Given the description of an element on the screen output the (x, y) to click on. 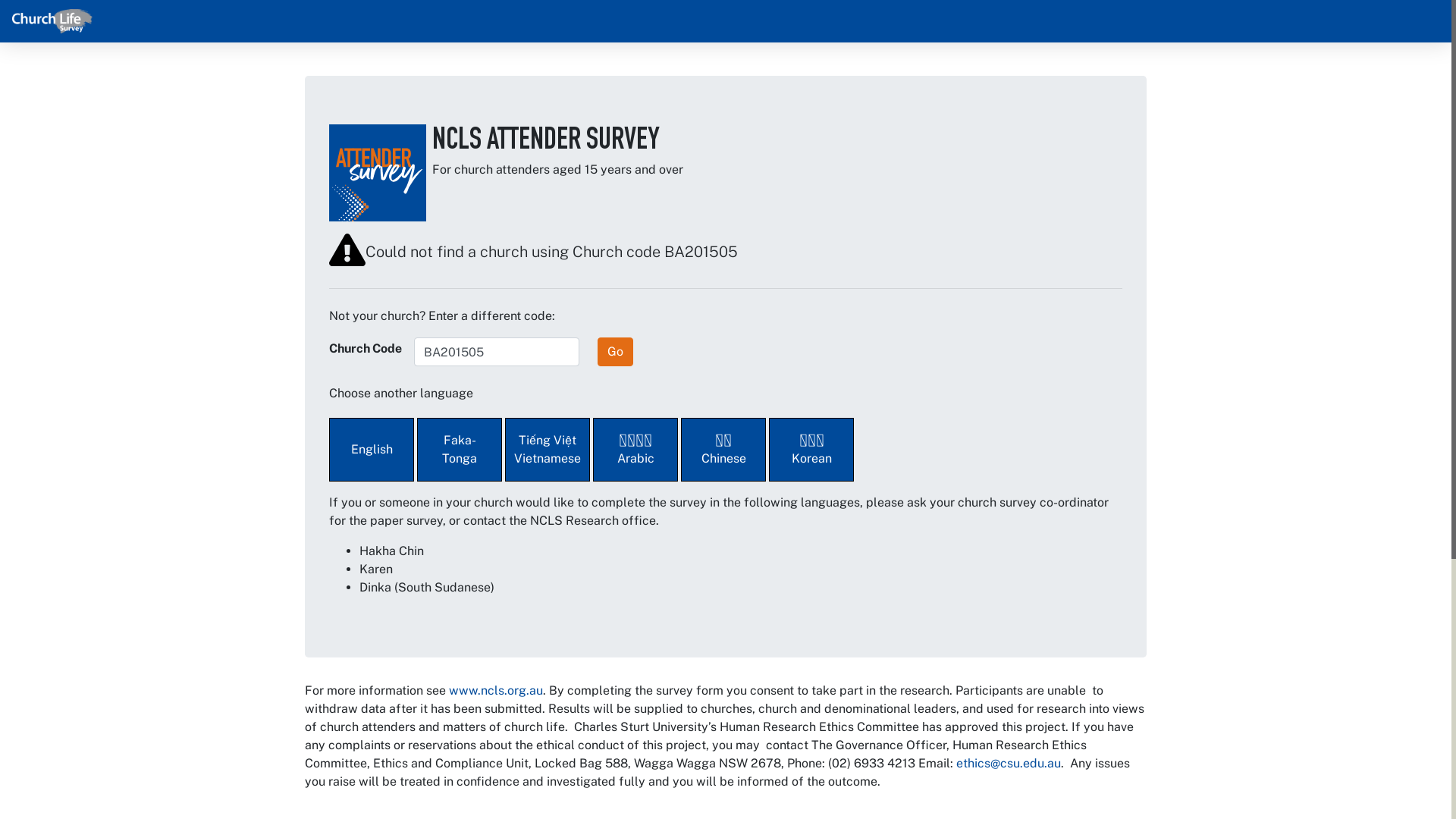
Faka-Tonga Element type: text (461, 447)
ethics@csu.edu.au Element type: text (1008, 763)
www.ncls.org.au Element type: text (495, 690)
English Element type: text (373, 447)
Go Element type: text (615, 351)
